Given the description of an element on the screen output the (x, y) to click on. 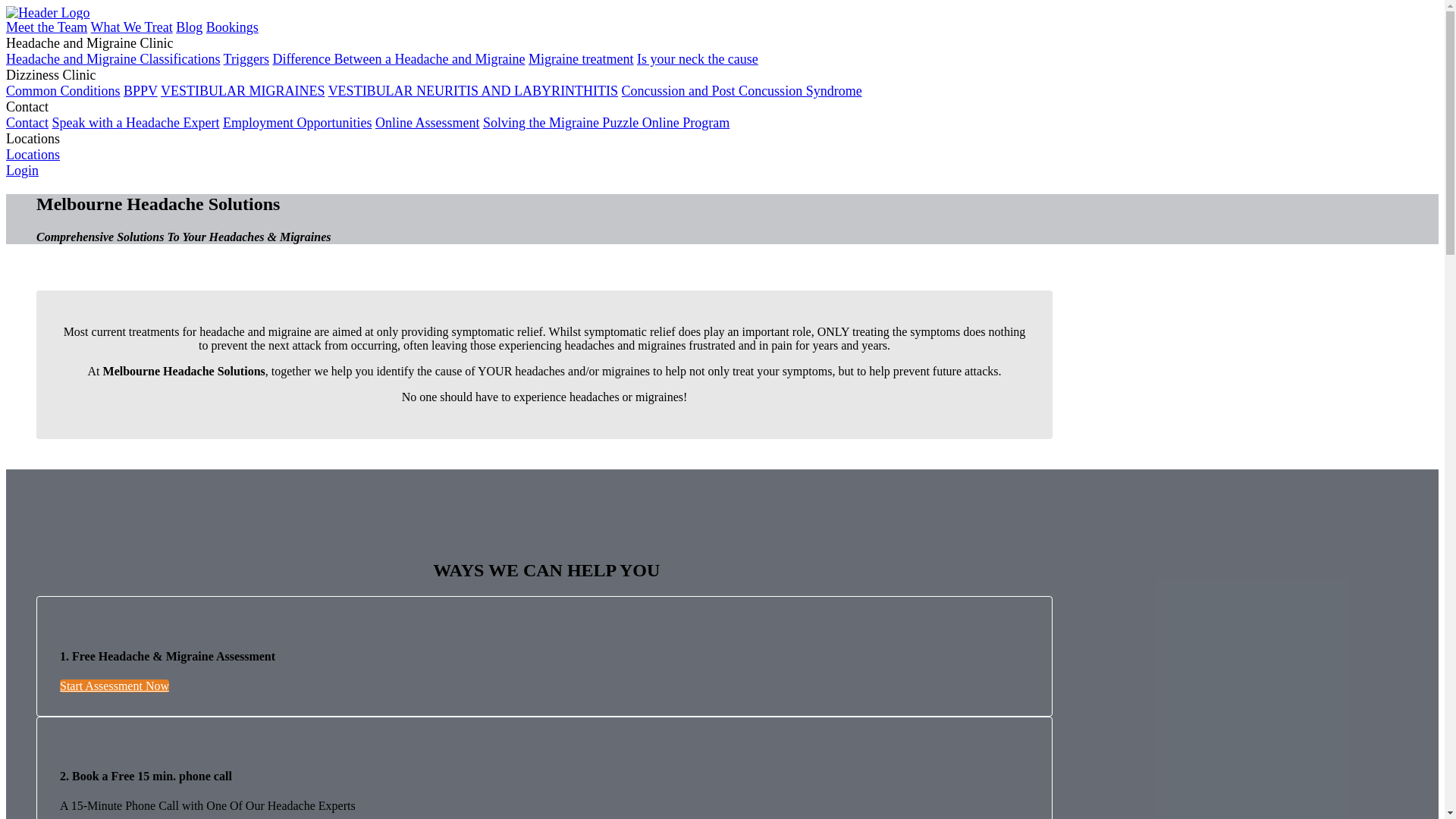
Concussion and Post Concussion Syndrome Element type: text (741, 90)
Contact Element type: text (27, 106)
Locations Element type: text (32, 154)
Common Conditions Element type: text (63, 90)
Solving the Migraine Puzzle Online Program Element type: text (606, 122)
VESTIBULAR NEURITIS AND LABYRINTHITIS Element type: text (473, 90)
Dizziness Clinic Element type: text (50, 74)
Headache and Migraine Clinic Element type: text (89, 42)
Online Assessment Element type: text (427, 122)
Difference Between a Headache and Migraine Element type: text (398, 58)
What We Treat Element type: text (131, 26)
Contact Element type: text (27, 122)
Employment Opportunities Element type: text (296, 122)
Triggers Element type: text (246, 58)
VESTIBULAR MIGRAINES Element type: text (242, 90)
Meet the Team Element type: text (46, 26)
BPPV Element type: text (140, 90)
Locations Element type: text (32, 138)
Headache and Migraine Classifications Element type: text (112, 58)
Login Element type: text (22, 170)
Speak with a Headache Expert Element type: text (135, 122)
Is your neck the cause Element type: text (697, 58)
Bookings Element type: text (232, 26)
Migraine treatment Element type: text (580, 58)
Blog Element type: text (188, 26)
Start Assessment Now Element type: text (114, 685)
